Given the description of an element on the screen output the (x, y) to click on. 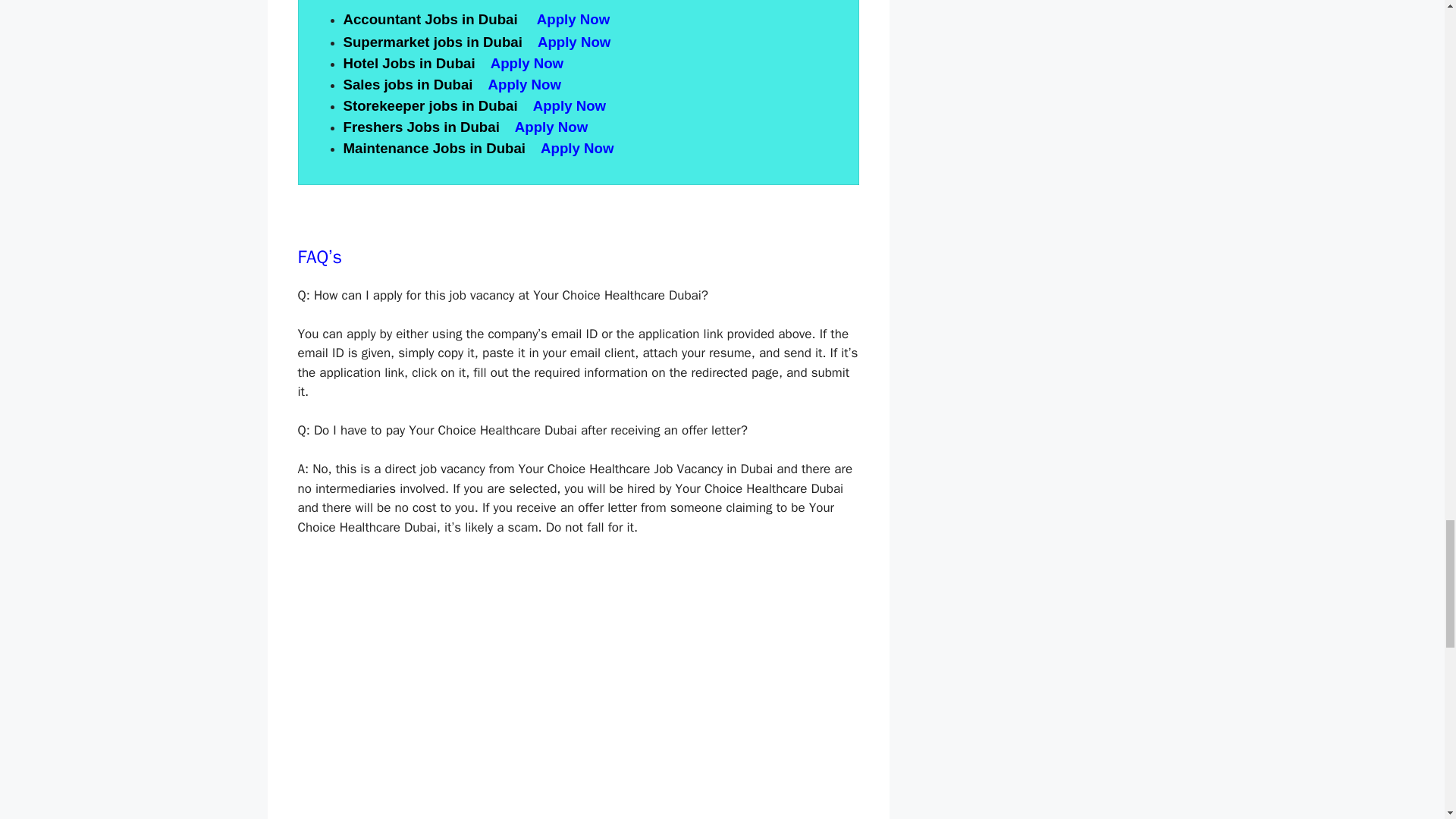
Apply Now  (578, 148)
Apply Now (573, 19)
Apply Now  (553, 126)
Apply Now (575, 41)
Apply Now (526, 63)
Apply Now  (571, 105)
YouTube video player (509, 675)
Apply Now  (526, 84)
